Given the description of an element on the screen output the (x, y) to click on. 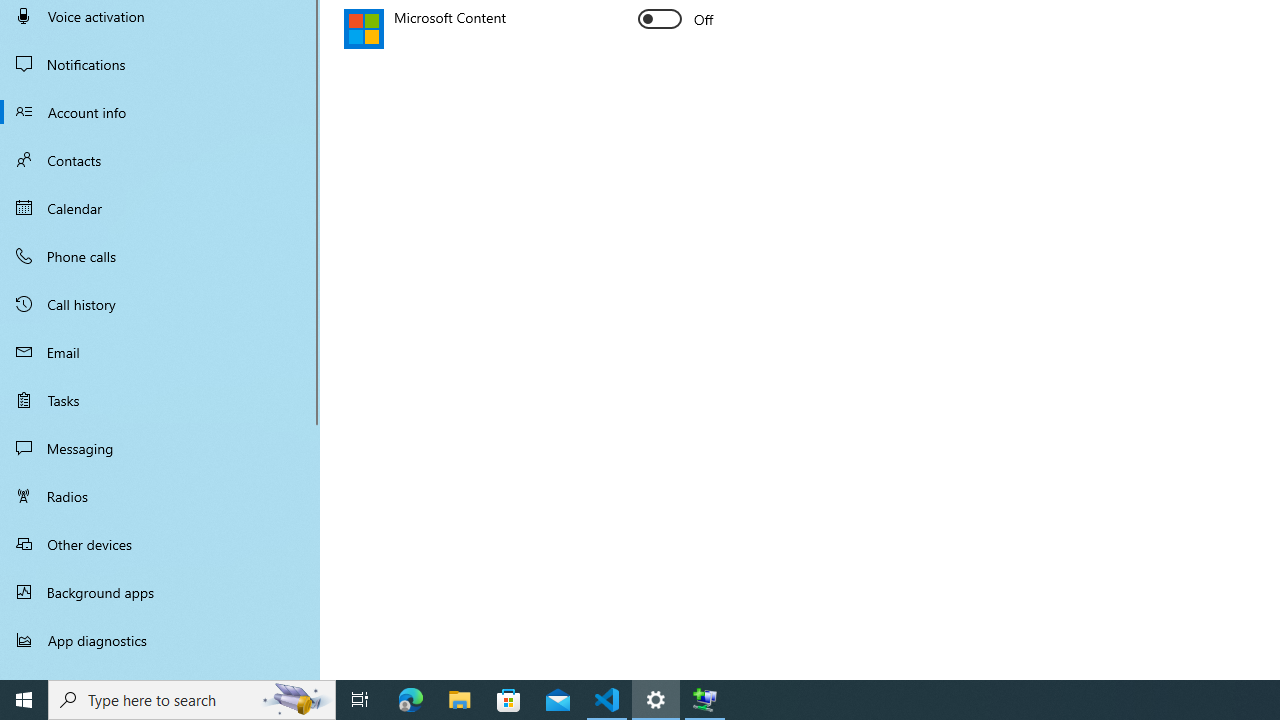
Start (24, 699)
Phone calls (160, 255)
Call history (160, 304)
Calendar (160, 207)
Radios (160, 495)
Extensible Wizards Host Process - 1 running window (704, 699)
Search highlights icon opens search home window (295, 699)
Settings - 1 running window (656, 699)
Microsoft Store (509, 699)
Email (160, 351)
Notifications (160, 63)
Messaging (160, 448)
Other devices (160, 543)
Type here to search (191, 699)
